Given the description of an element on the screen output the (x, y) to click on. 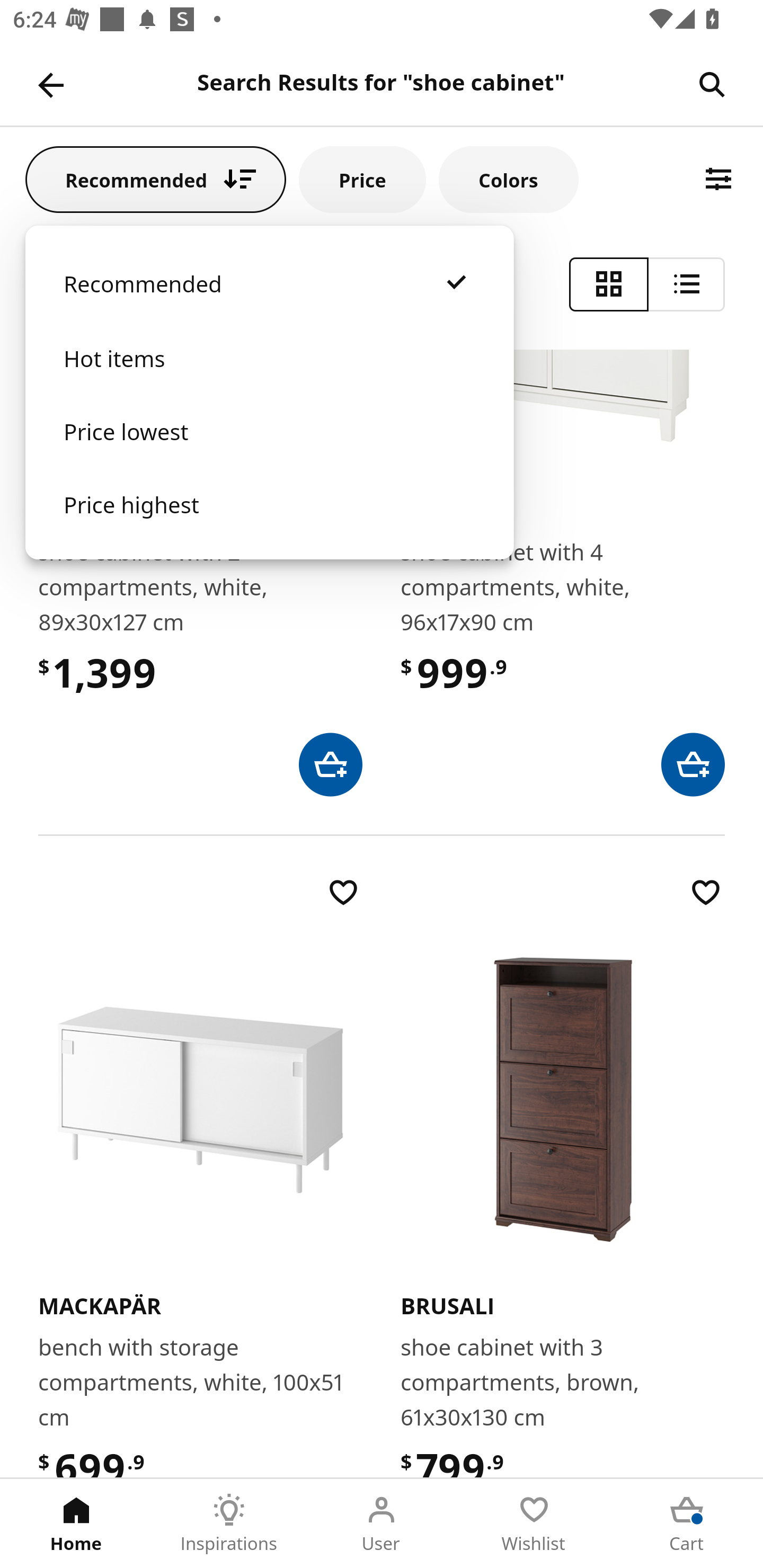
Recommended (155, 179)
Price (362, 179)
Colors (508, 179)
Recommended (269, 301)
Hot items (269, 376)
Price lowest (269, 449)
Price highest (269, 522)
Home
Tab 1 of 5 (76, 1522)
Inspirations
Tab 2 of 5 (228, 1522)
User
Tab 3 of 5 (381, 1522)
Wishlist
Tab 4 of 5 (533, 1522)
Cart
Tab 5 of 5 (686, 1522)
